Given the description of an element on the screen output the (x, y) to click on. 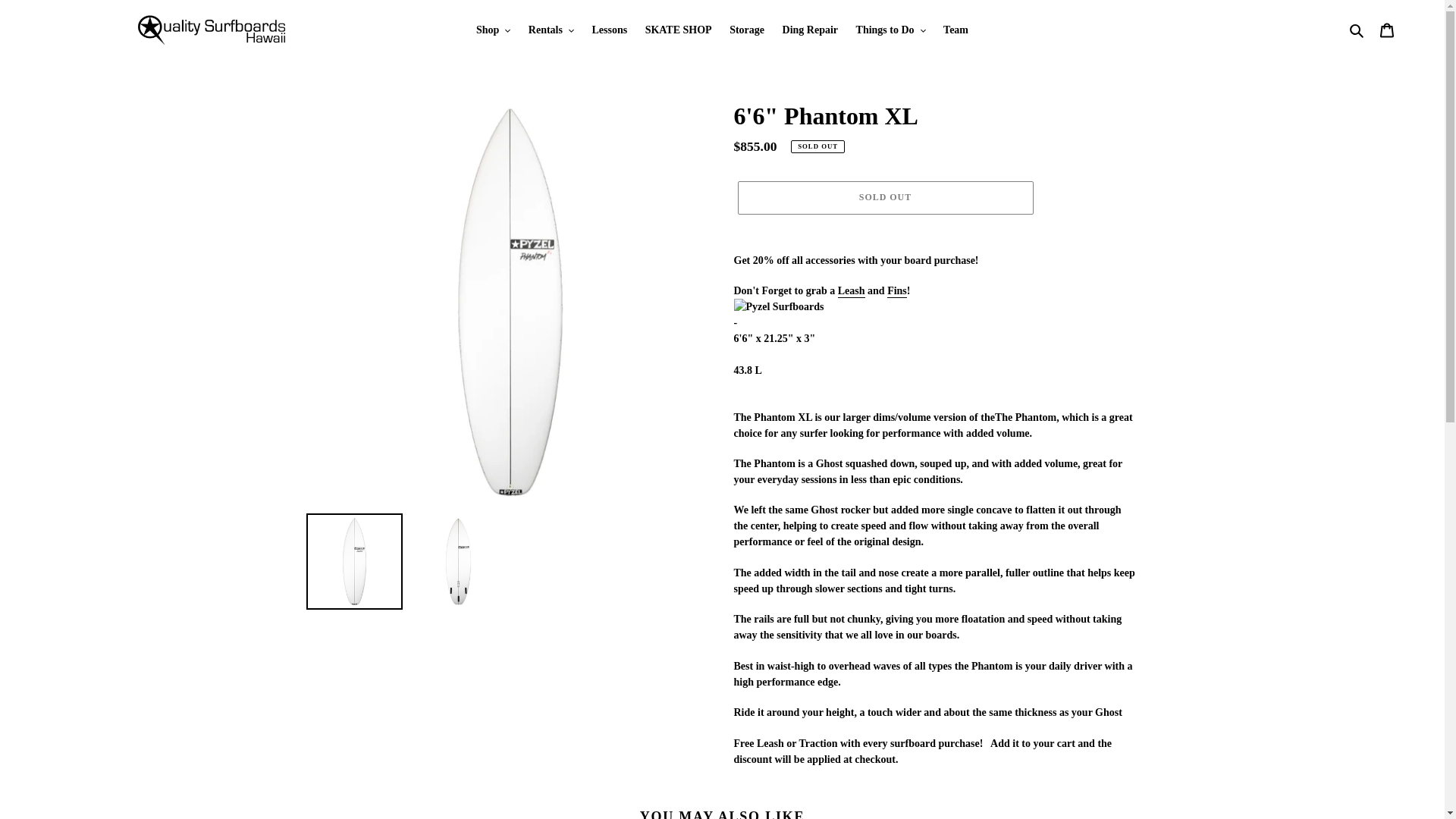
Surfboard Leashes Hawaii Quality Surfboards (851, 291)
Shop (493, 29)
Rentals (550, 29)
Shortboard Surfboard Fins Hawaii (896, 291)
